Given the description of an element on the screen output the (x, y) to click on. 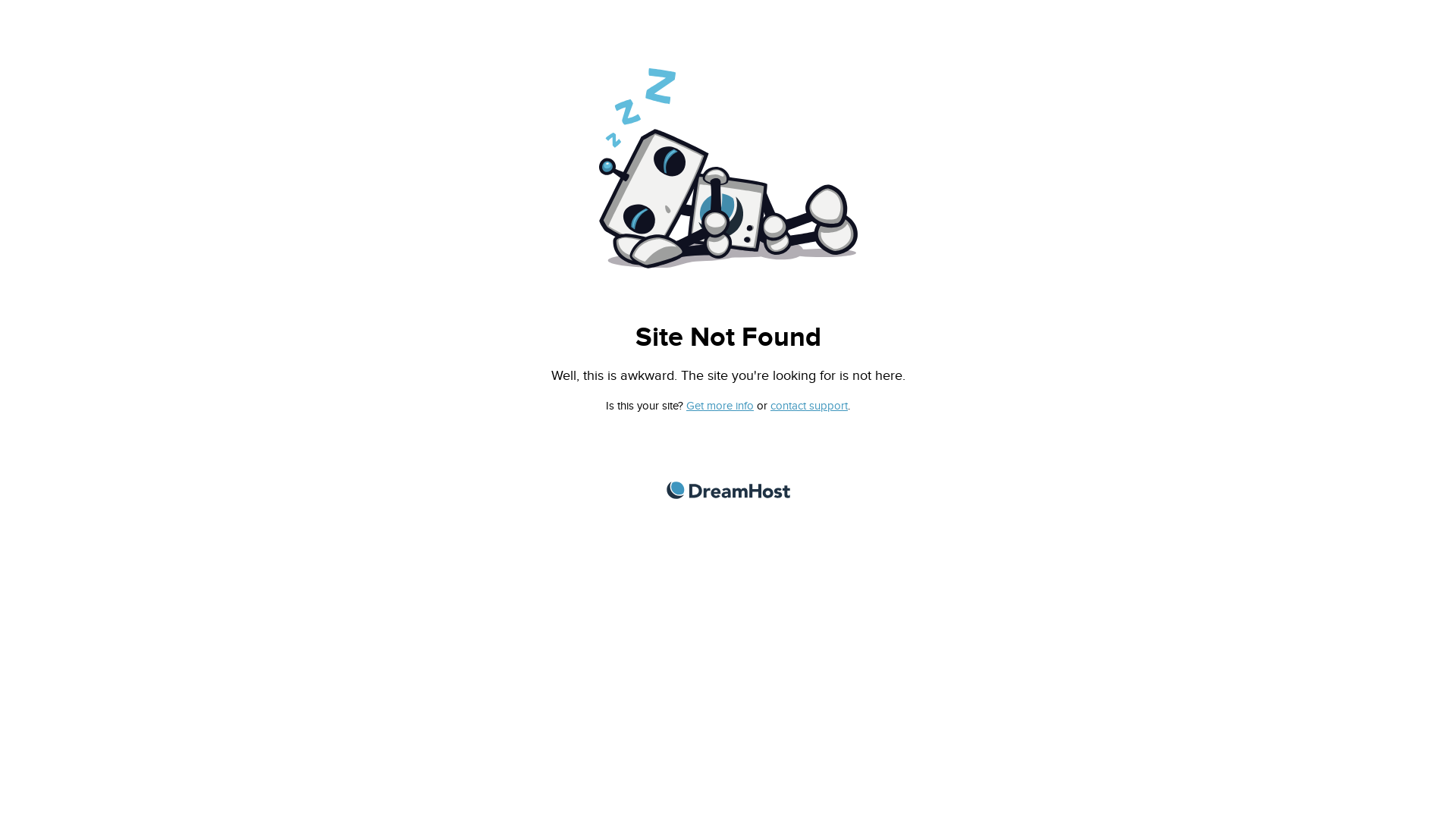
DreamHost Element type: text (727, 489)
Get more info Element type: text (719, 405)
contact support Element type: text (808, 405)
